Given the description of an element on the screen output the (x, y) to click on. 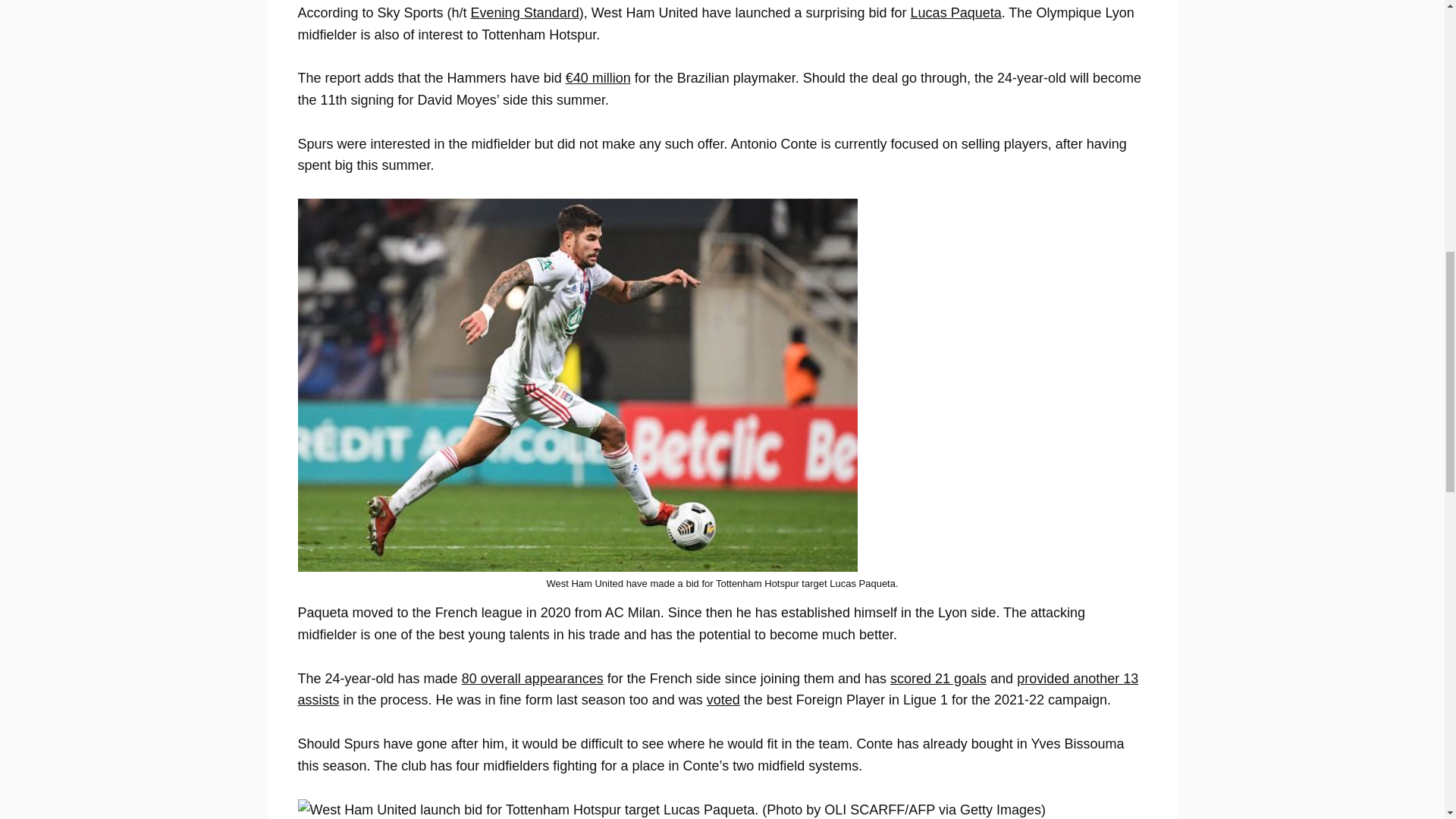
Lucas Paqueta (956, 12)
Evening Standard (524, 12)
